Given the description of an element on the screen output the (x, y) to click on. 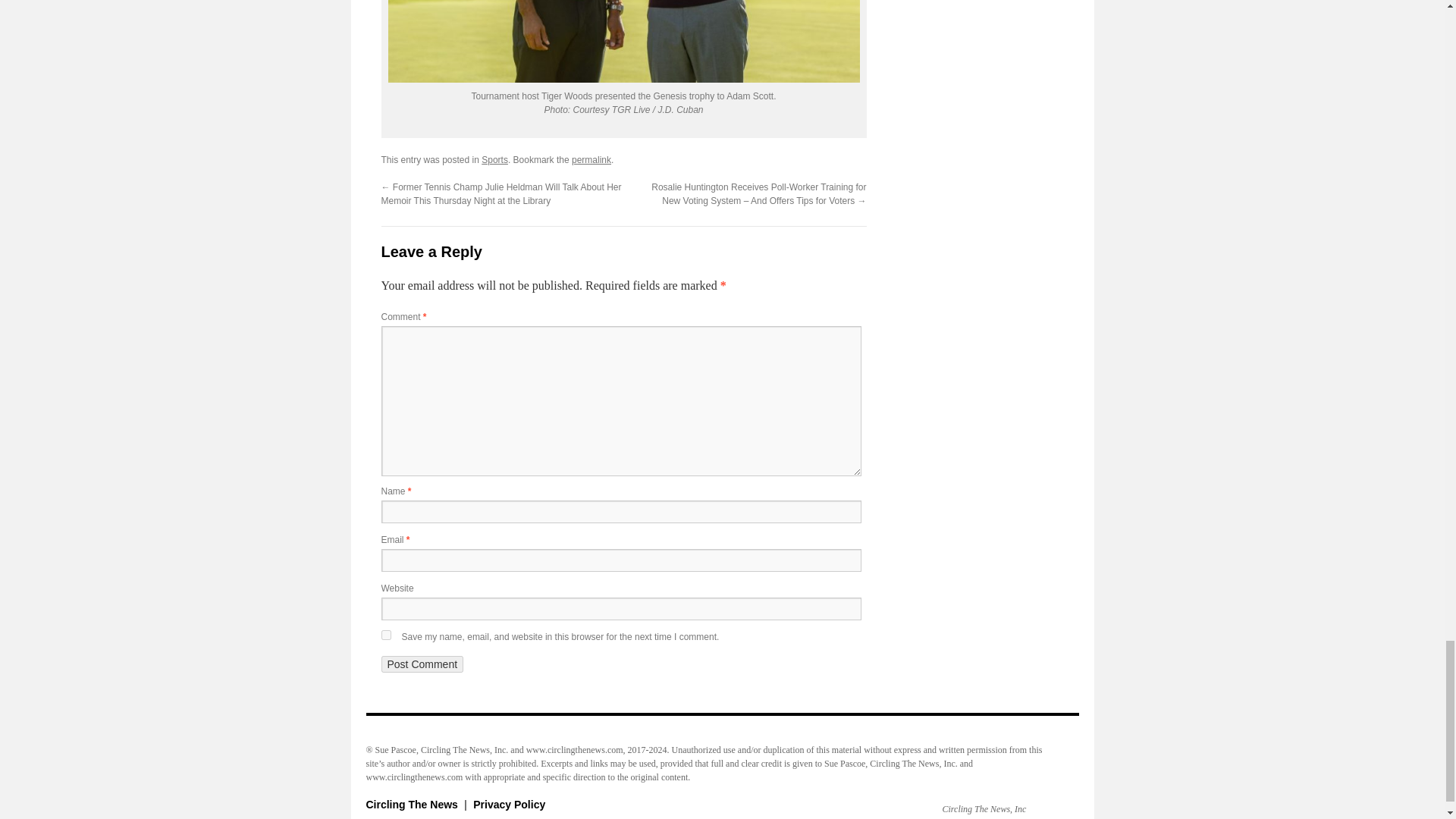
Sports (494, 159)
permalink (591, 159)
yes (385, 634)
Post Comment (421, 664)
Post Comment (421, 664)
Circling The News (412, 804)
Permalink to Adam Scott Wins the Genesis Invitational Sunday (591, 159)
